Given the description of an element on the screen output the (x, y) to click on. 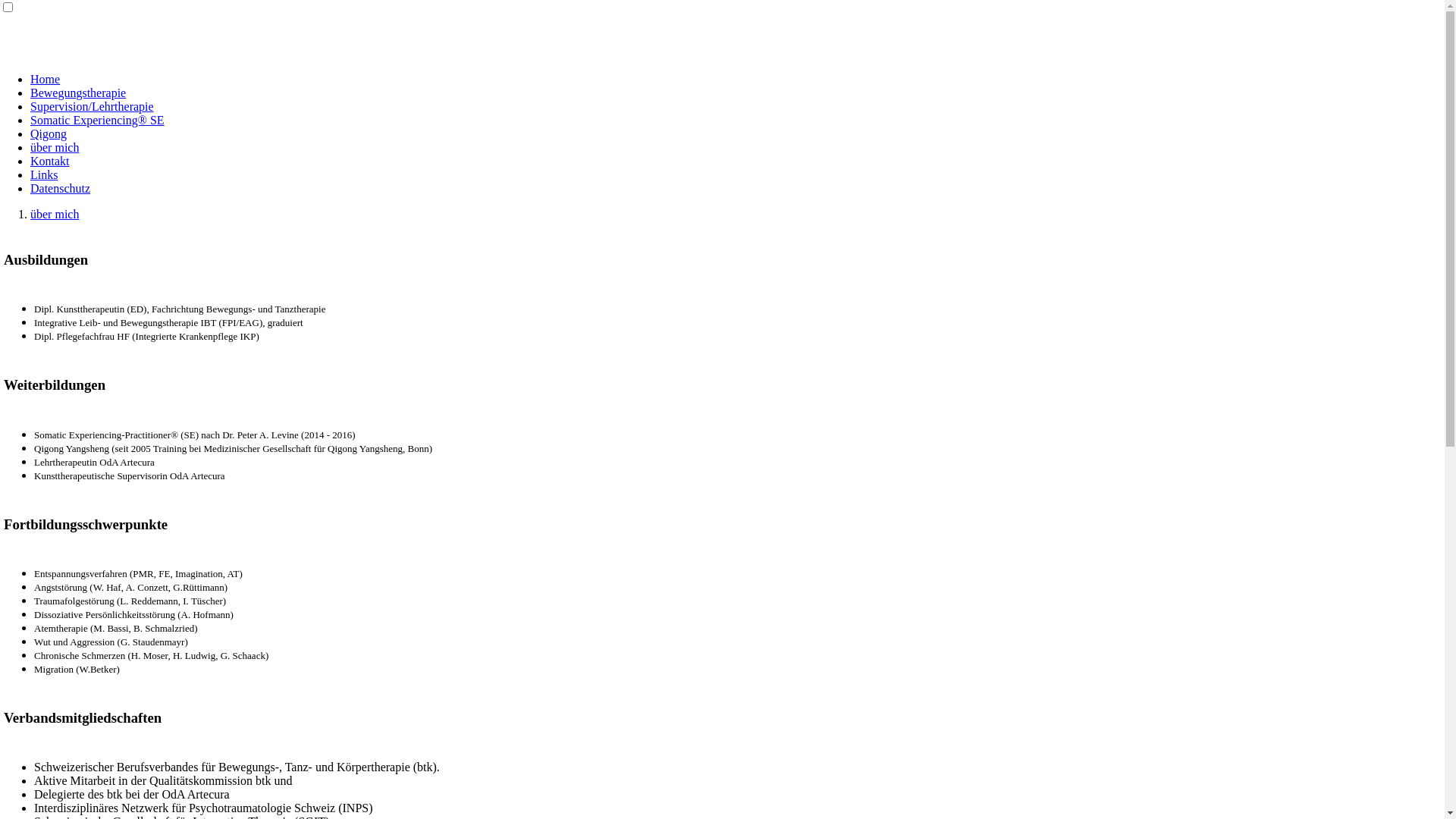
Home Element type: text (44, 78)
Bewegungstherapie Element type: text (77, 92)
Supervision/Lehrtherapie Element type: text (91, 106)
Links Element type: text (43, 174)
Datenschutz Element type: text (60, 188)
Qigong Element type: text (48, 133)
Kontakt Element type: text (49, 160)
